Given the description of an element on the screen output the (x, y) to click on. 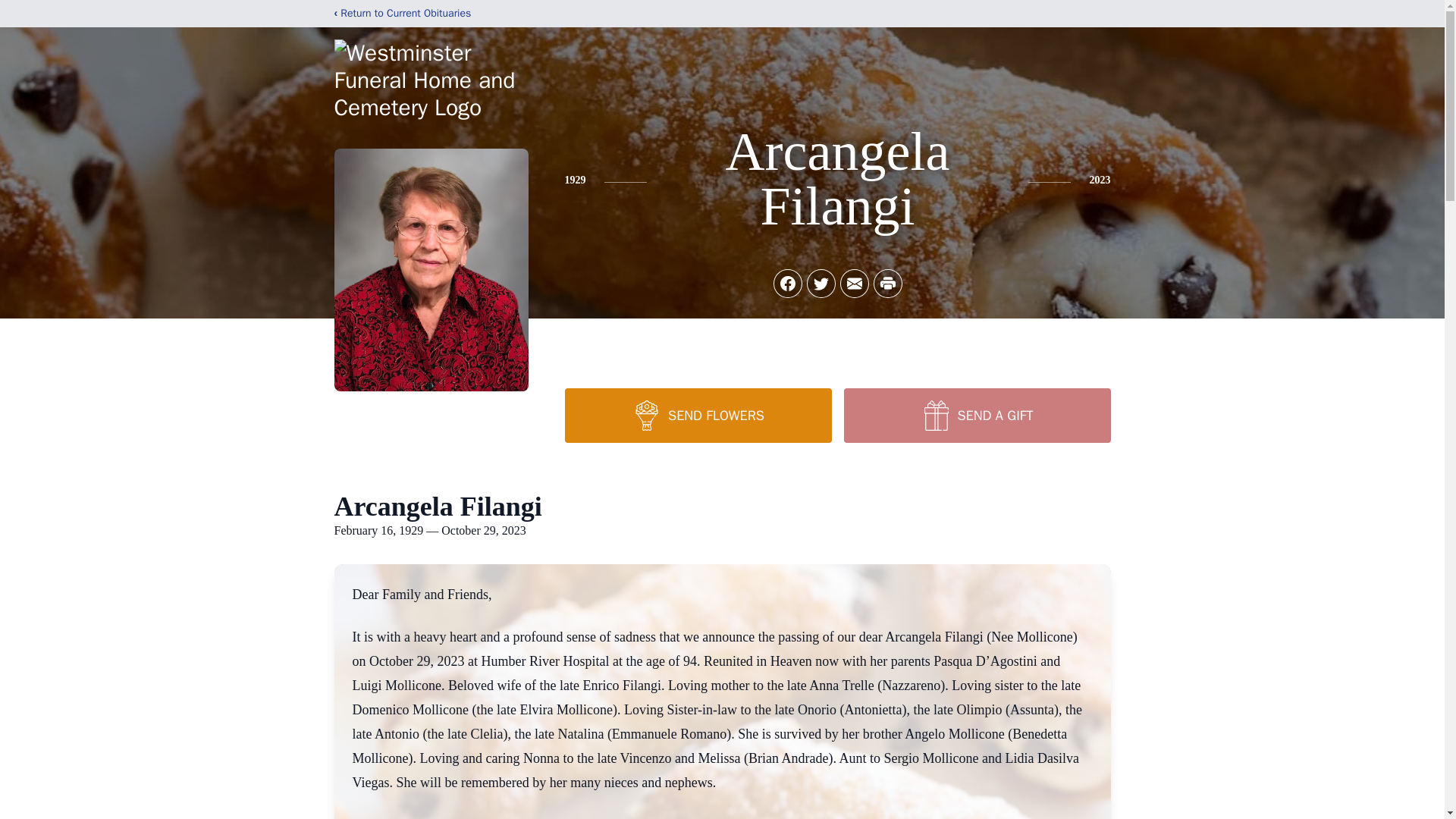
SEND FLOWERS (697, 415)
SEND A GIFT (976, 415)
